Given the description of an element on the screen output the (x, y) to click on. 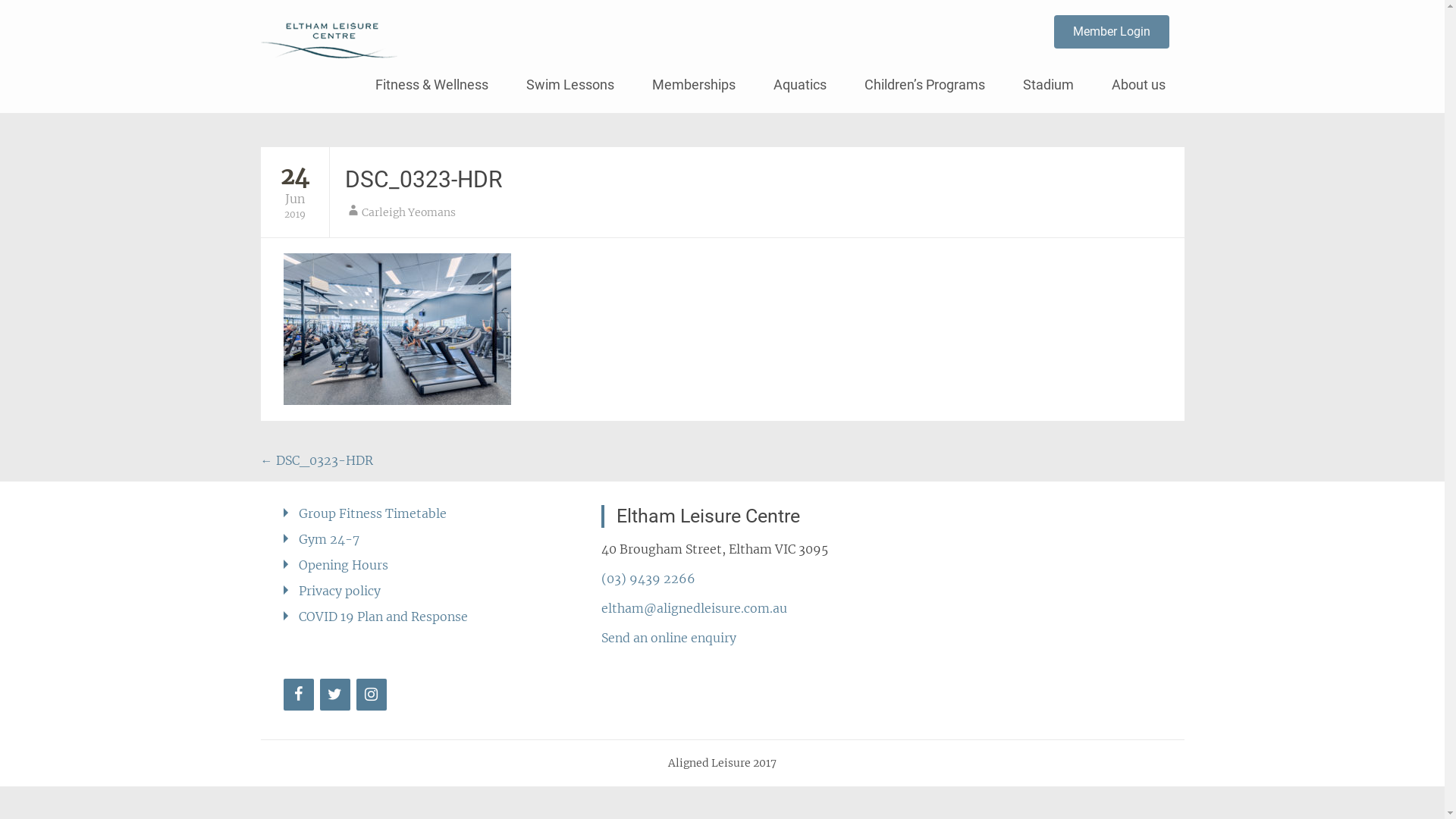
Swim Lessons Element type: text (569, 84)
Aquatics Element type: text (798, 84)
Gym 24-7 Element type: text (328, 538)
Fitness & Wellness Element type: text (431, 84)
(03) 9439 2266 Element type: text (648, 578)
Opening Hours Element type: text (343, 564)
Memberships Element type: text (692, 84)
24
Jun
2019 Element type: text (294, 191)
DSC_0323-HDR Element type: text (422, 179)
Stadium Element type: text (1048, 84)
Skip to content Element type: text (373, 63)
COVID 19 Plan and Response Element type: text (382, 616)
Member Login Element type: text (1111, 31)
eltham@alignedleisure.com.au Element type: text (694, 607)
Send an online enquiry Element type: text (668, 637)
About us Element type: text (1137, 84)
Group Fitness Timetable Element type: text (372, 512)
Carleigh Yeomans Element type: text (407, 212)
Privacy policy Element type: text (339, 590)
Eltham Leisure Centre Element type: text (546, 27)
